Given the description of an element on the screen output the (x, y) to click on. 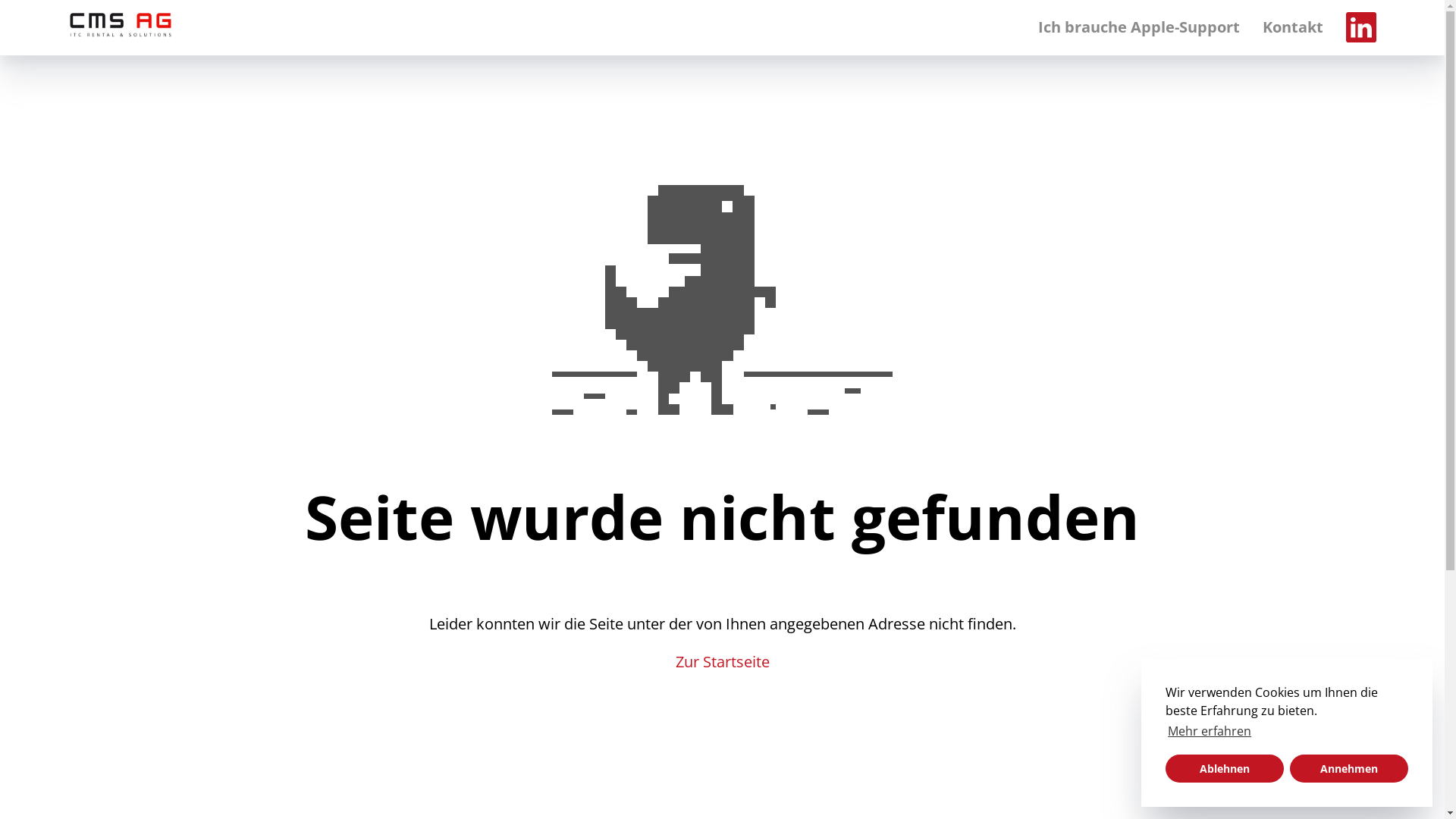
Ablehnen Element type: text (1224, 768)
+41 79 332 56 16 Element type: text (779, 411)
Ich brauche Apple-Support Element type: text (1138, 26)
Kontakt Element type: text (1292, 26)
Mehr erfahren Element type: text (1209, 730)
Support-Portal Element type: text (772, 411)
Zur Startseite Element type: text (721, 661)
info@neugear.ch Element type: text (780, 411)
Annehmen Element type: text (1348, 768)
